Given the description of an element on the screen output the (x, y) to click on. 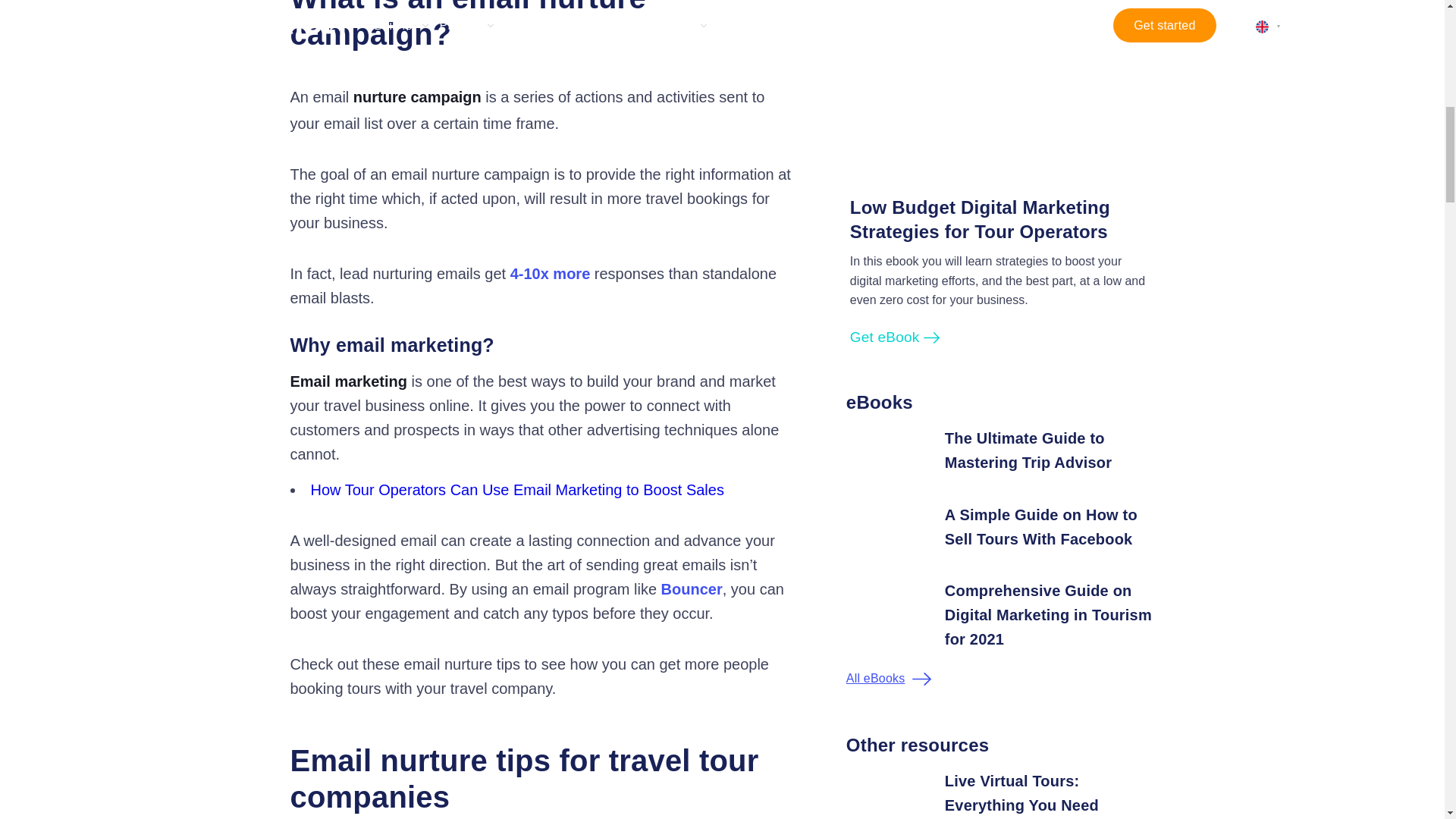
How Tour Operators Can Use Email Marketing to Boost Sales (517, 489)
Bouncer (691, 588)
4-10x more (551, 273)
